Given the description of an element on the screen output the (x, y) to click on. 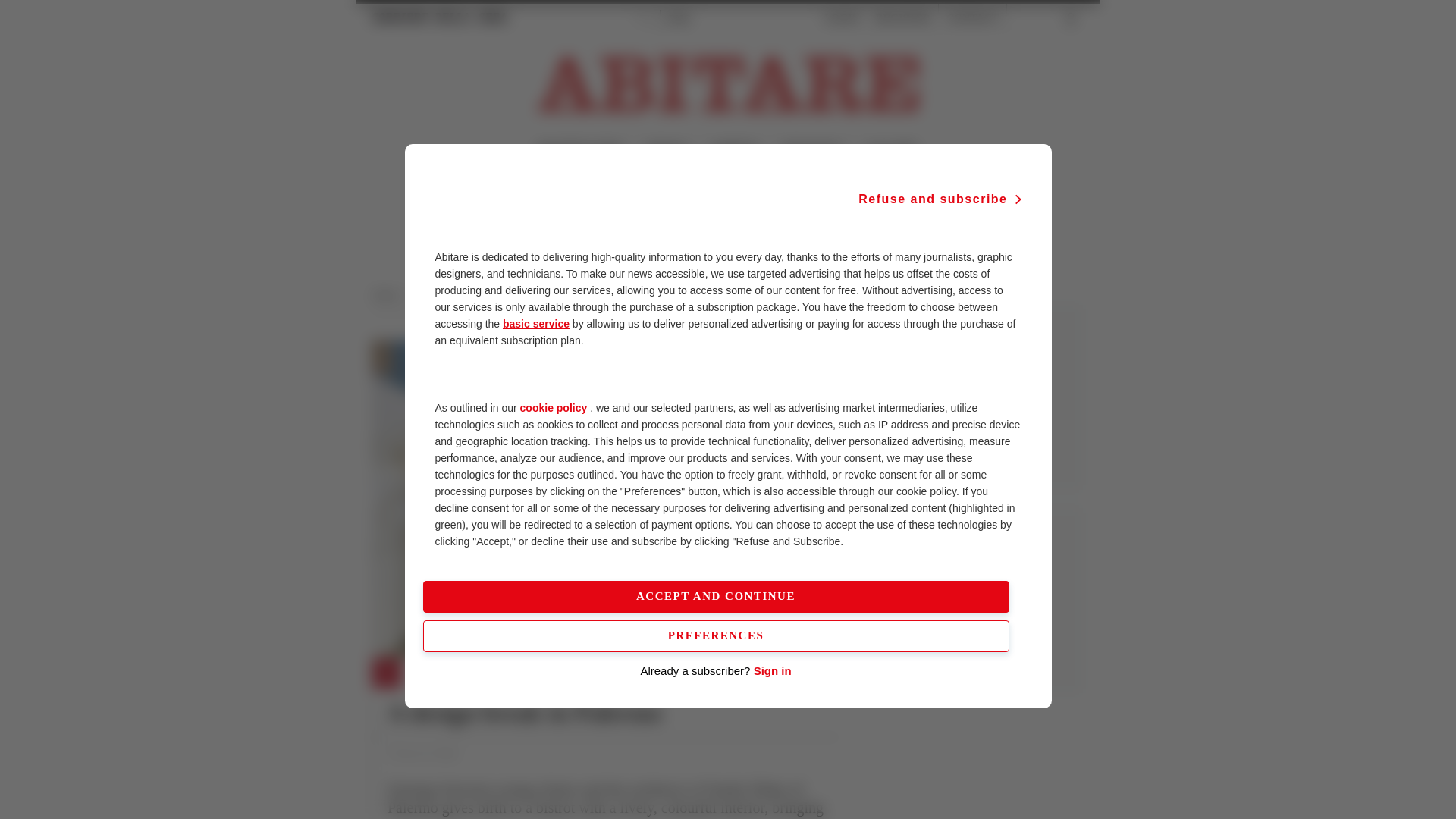
Architecture (442, 294)
GALLERY (890, 150)
ITA (643, 18)
ARCHITECTURE (578, 150)
ENG (679, 18)
Il Corriere della Sera (439, 17)
RESEARCH (812, 150)
Projects (498, 294)
REGISTER (903, 18)
Abitare (390, 294)
Search (1035, 17)
DESIGN (666, 150)
CONTACT (972, 18)
LOGIN (842, 18)
HABITAT (735, 150)
